Given the description of an element on the screen output the (x, y) to click on. 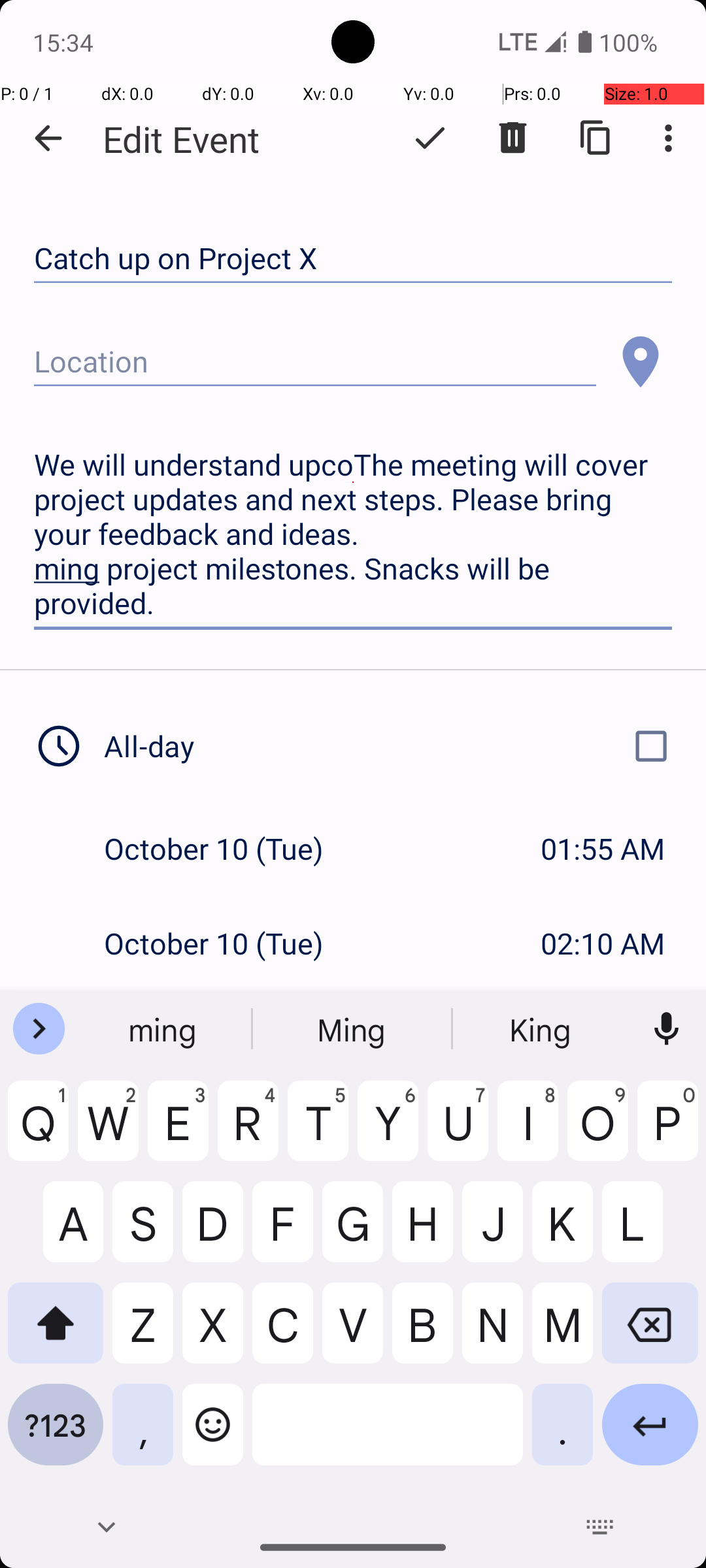
We will understand upcoThe meeting will cover project updates and next steps. Please bring your feedback and ideas.
ming project milestones. Snacks will be provided. Element type: android.widget.EditText (352, 534)
October 10 (Tue) Element type: android.widget.TextView (227, 847)
01:55 AM Element type: android.widget.TextView (602, 847)
02:10 AM Element type: android.widget.TextView (602, 942)
ming Element type: android.widget.FrameLayout (163, 1028)
Ming Element type: android.widget.FrameLayout (352, 1028)
King Element type: android.widget.FrameLayout (541, 1028)
